Given the description of an element on the screen output the (x, y) to click on. 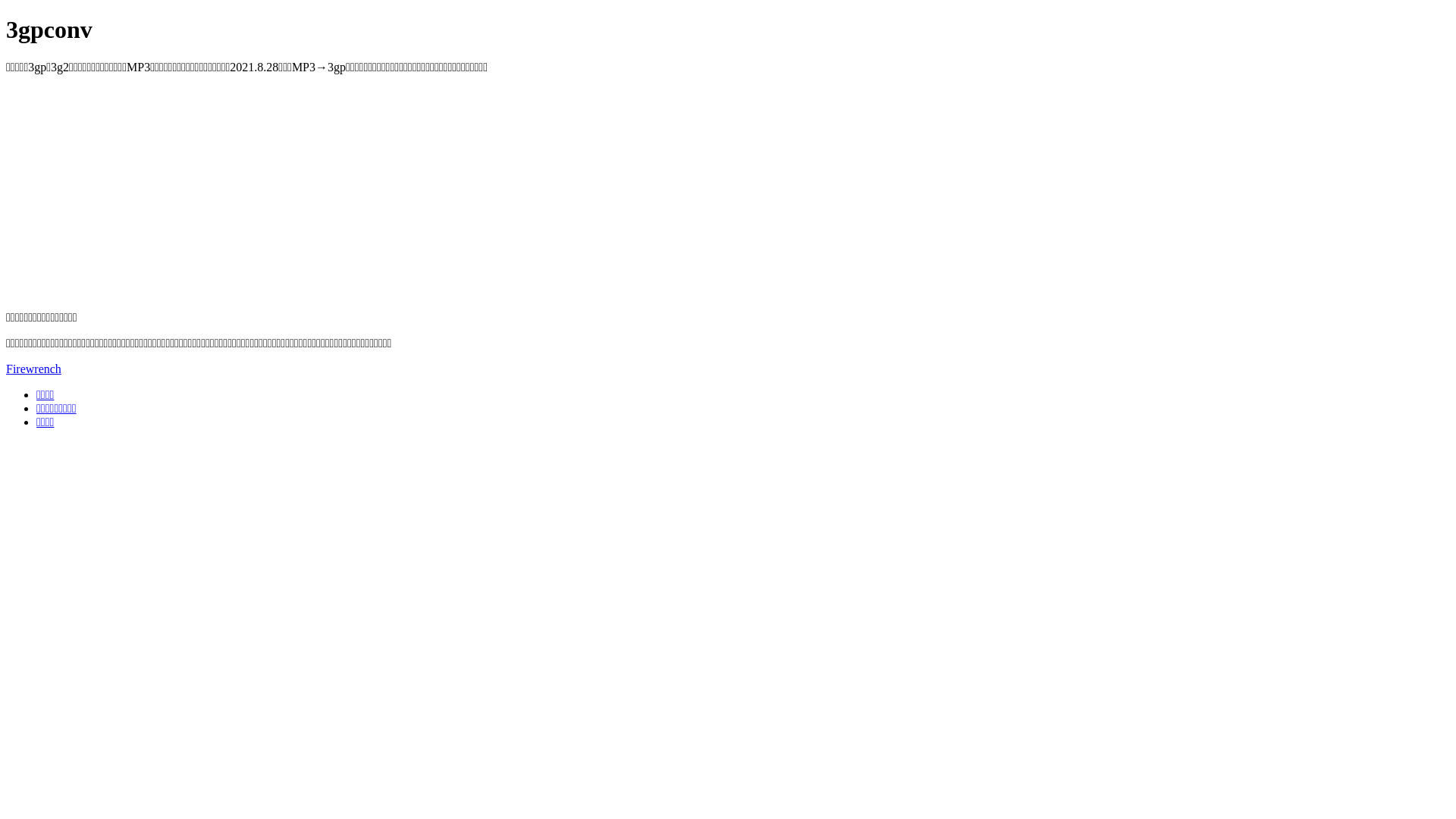
Advertisement Element type: hover (461, 192)
Firewrench Element type: text (33, 368)
